Given the description of an element on the screen output the (x, y) to click on. 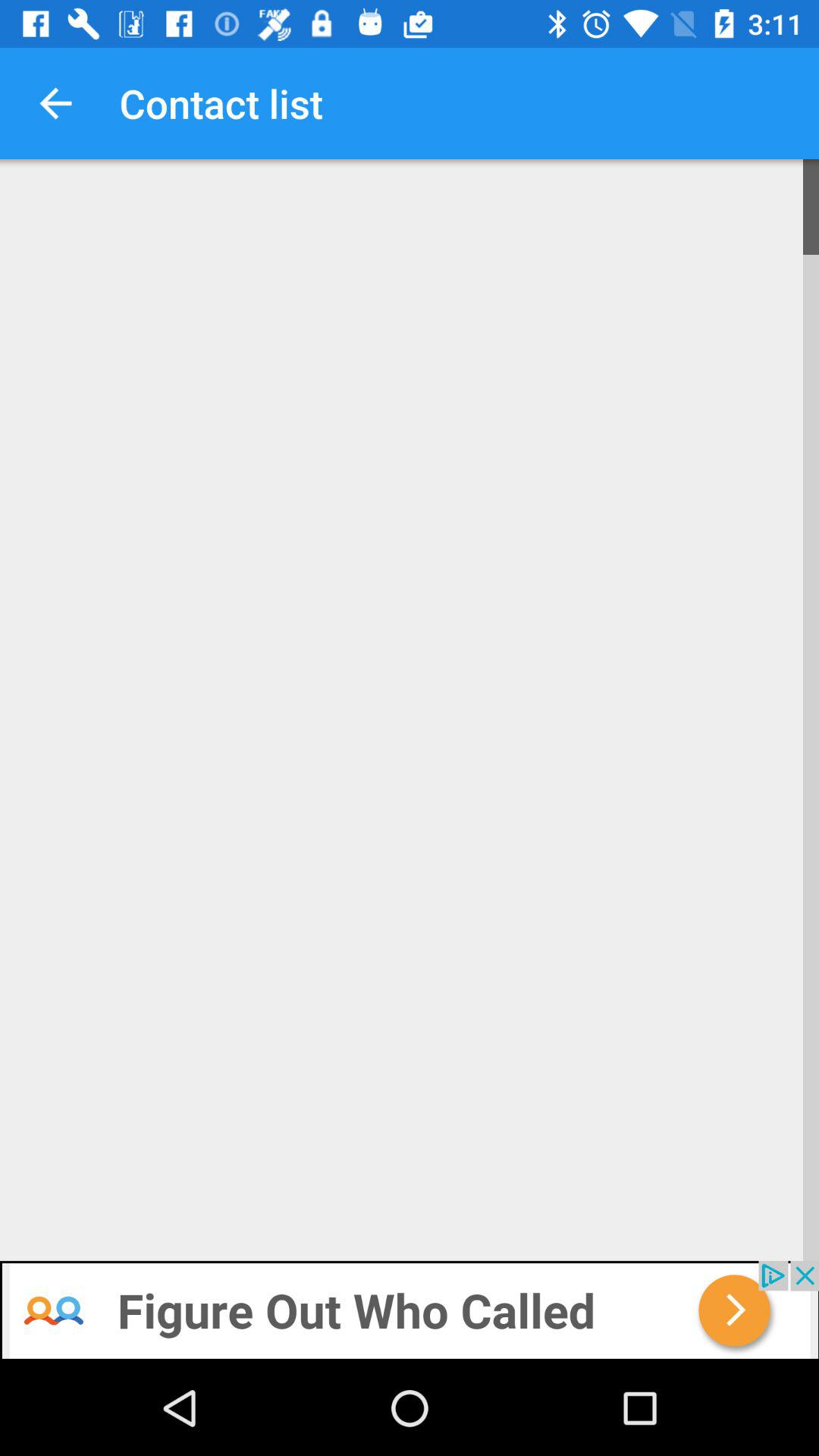
accept (409, 1310)
